Given the description of an element on the screen output the (x, y) to click on. 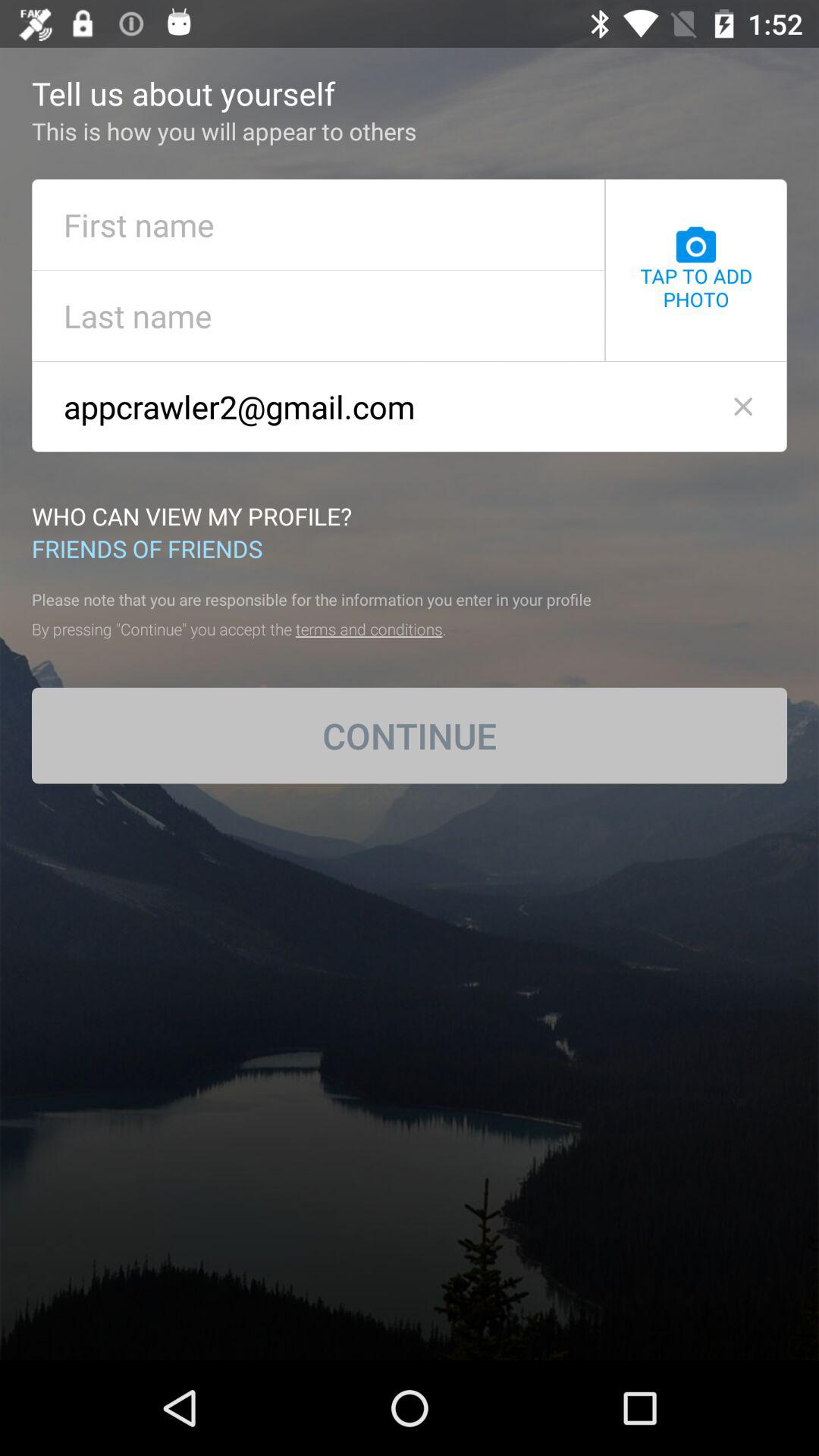
put your first name (318, 224)
